Given the description of an element on the screen output the (x, y) to click on. 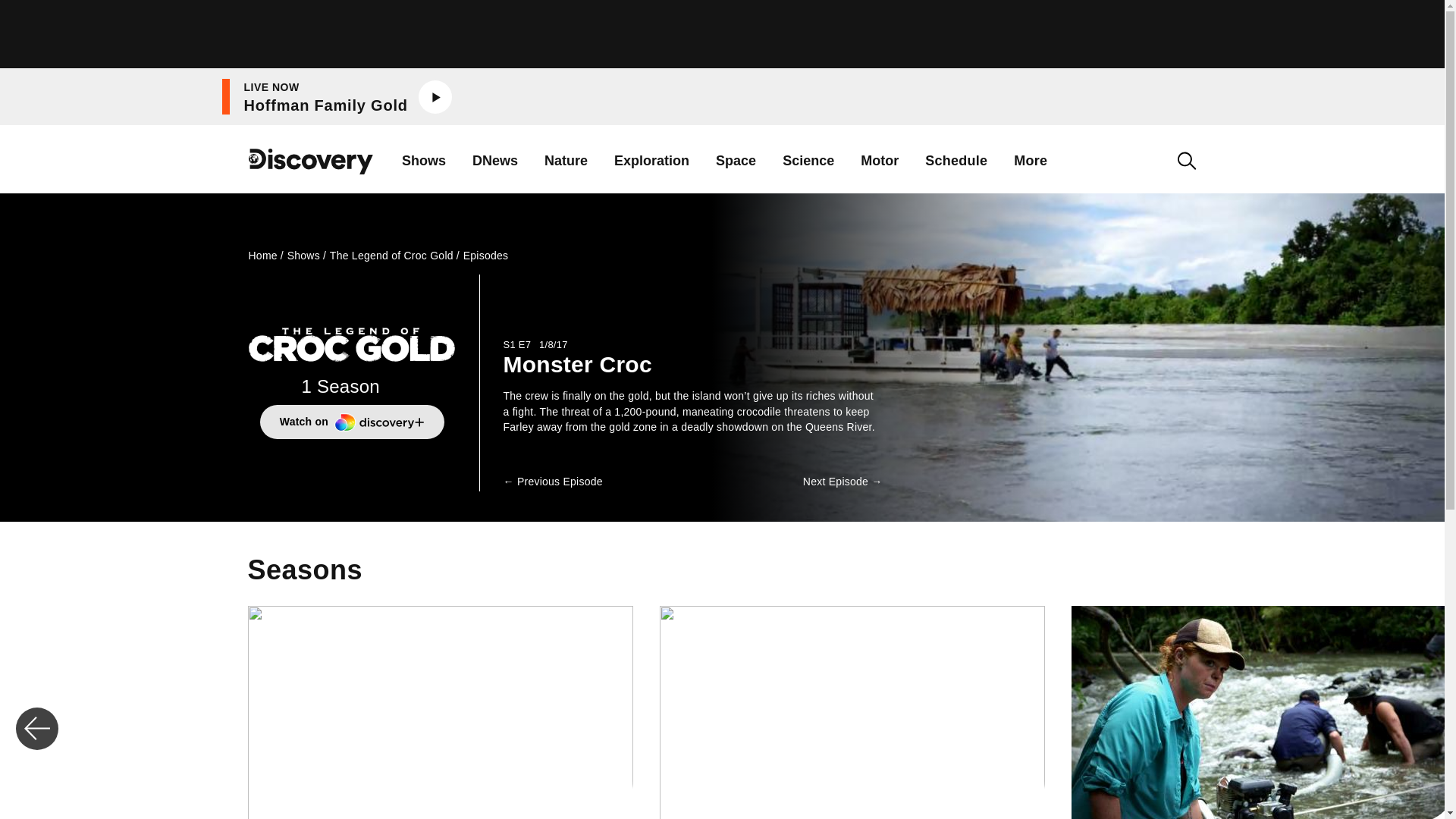
home (310, 173)
